Given the description of an element on the screen output the (x, y) to click on. 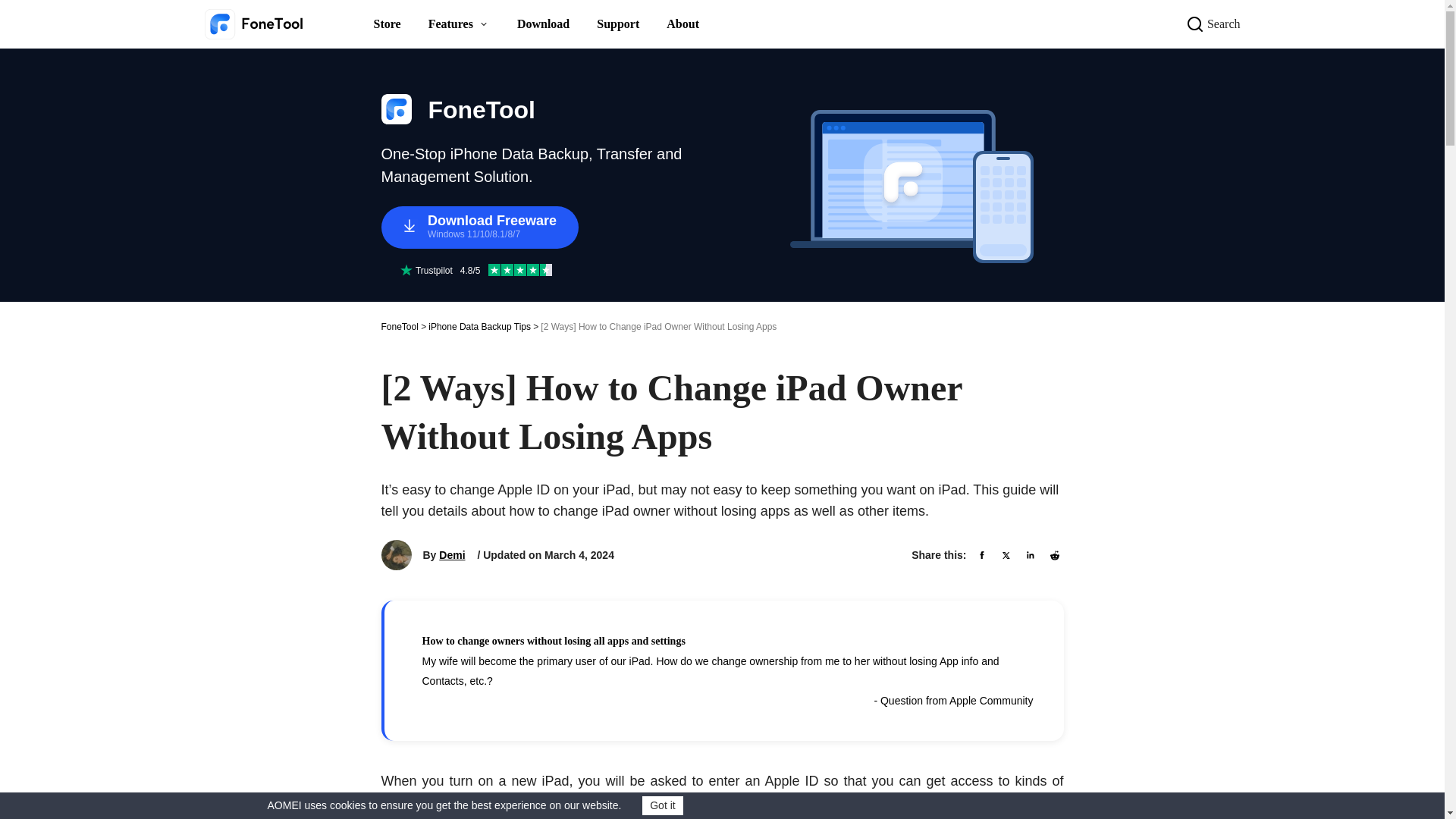
Demi (451, 555)
FoneTool (398, 326)
Download (542, 24)
iPhone Data Backup Tips (479, 326)
